Given the description of an element on the screen output the (x, y) to click on. 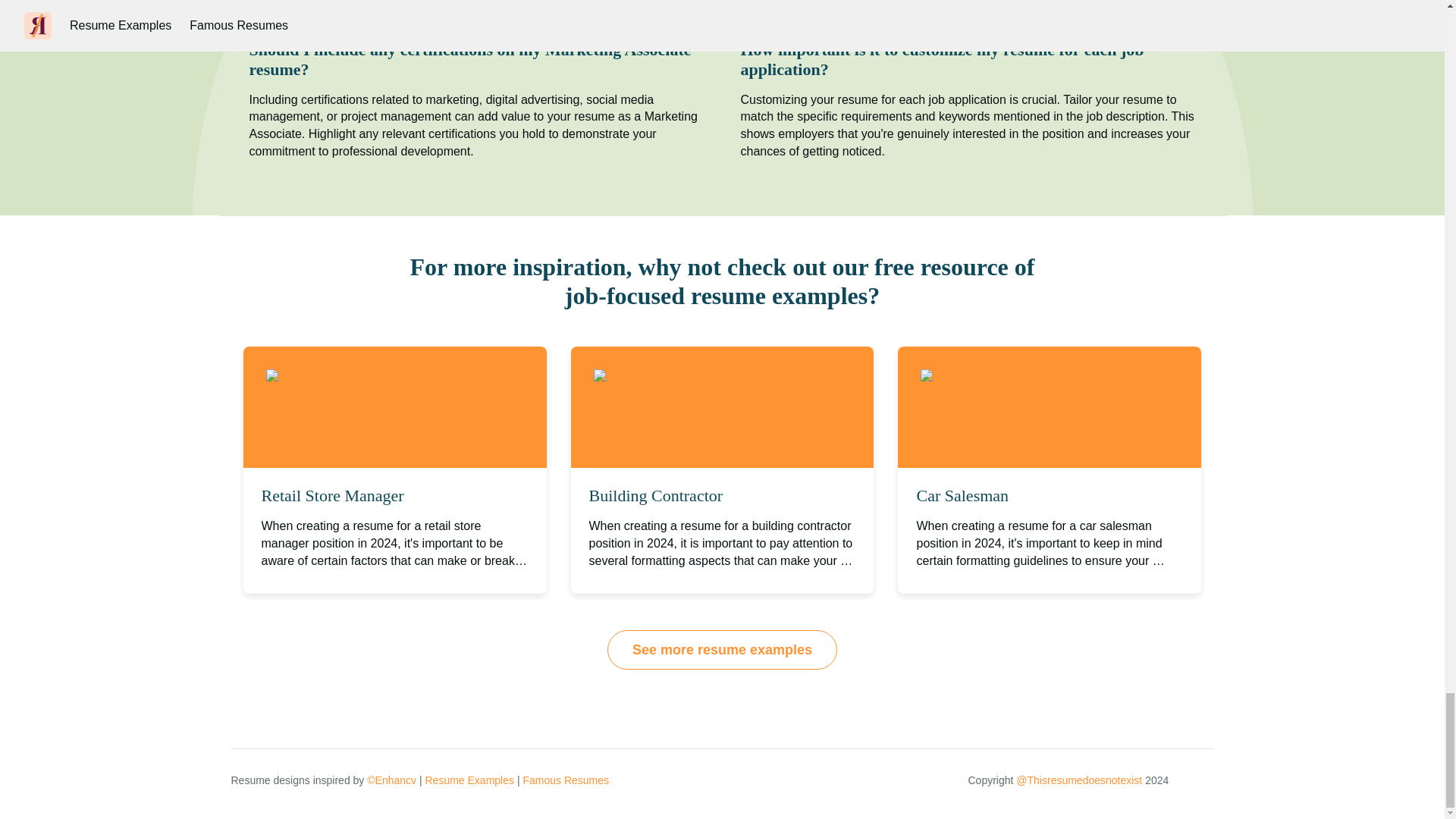
Resume Examples (469, 779)
Car Salesman's resume (1000, 376)
Retail Store Manager's resume (363, 376)
Building Contractor's resume (684, 376)
Famous Resumes (565, 779)
See more resume examples (722, 649)
